Given the description of an element on the screen output the (x, y) to click on. 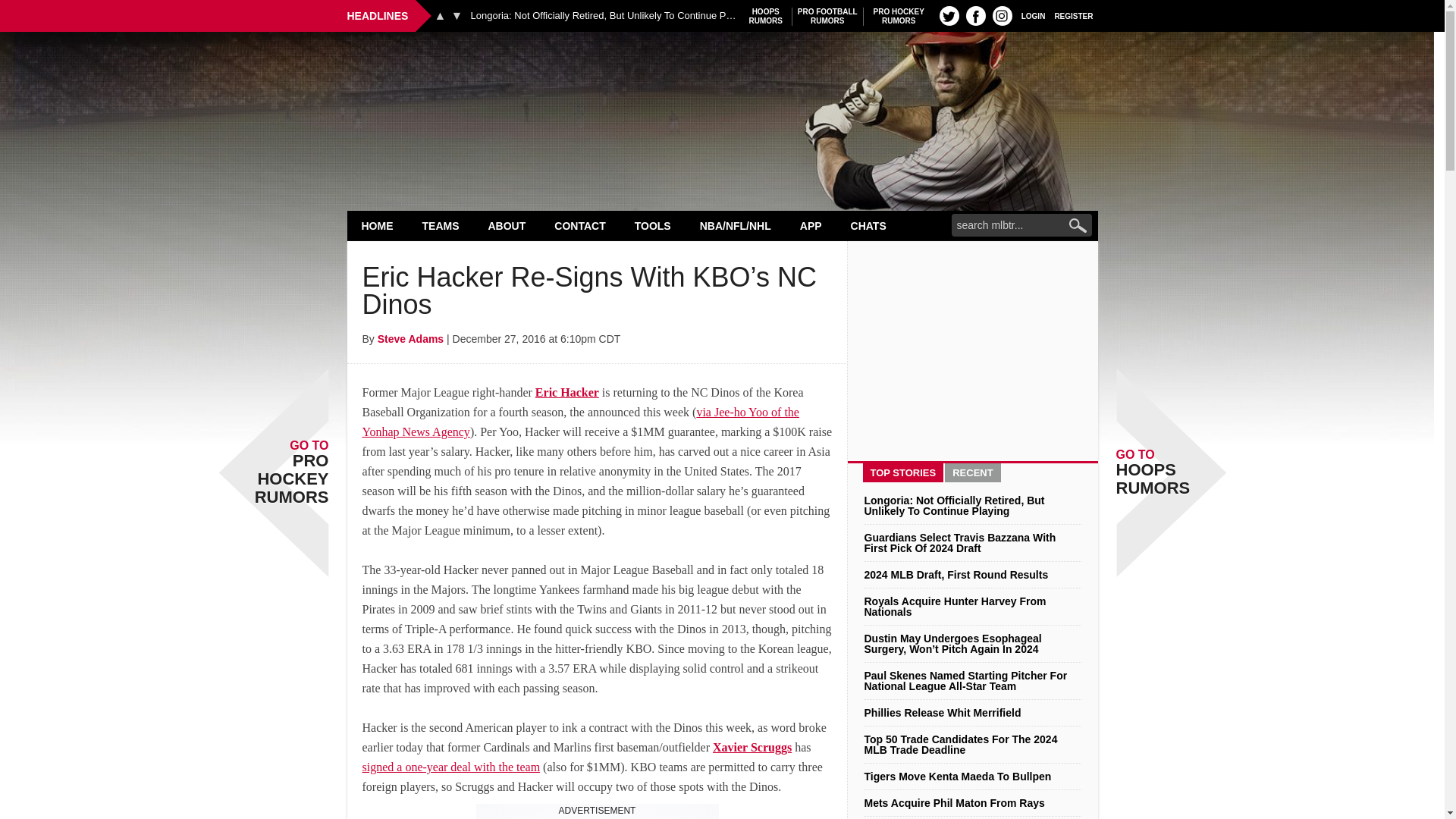
LOGIN (1032, 15)
Instagram profile (1001, 15)
MLB Trade Rumors (722, 69)
HOME (377, 225)
REGISTER (1073, 15)
TEAMS (440, 225)
Twitter profile (949, 15)
FB profile (975, 15)
Previous (765, 16)
3rd party ad content (898, 16)
